Given the description of an element on the screen output the (x, y) to click on. 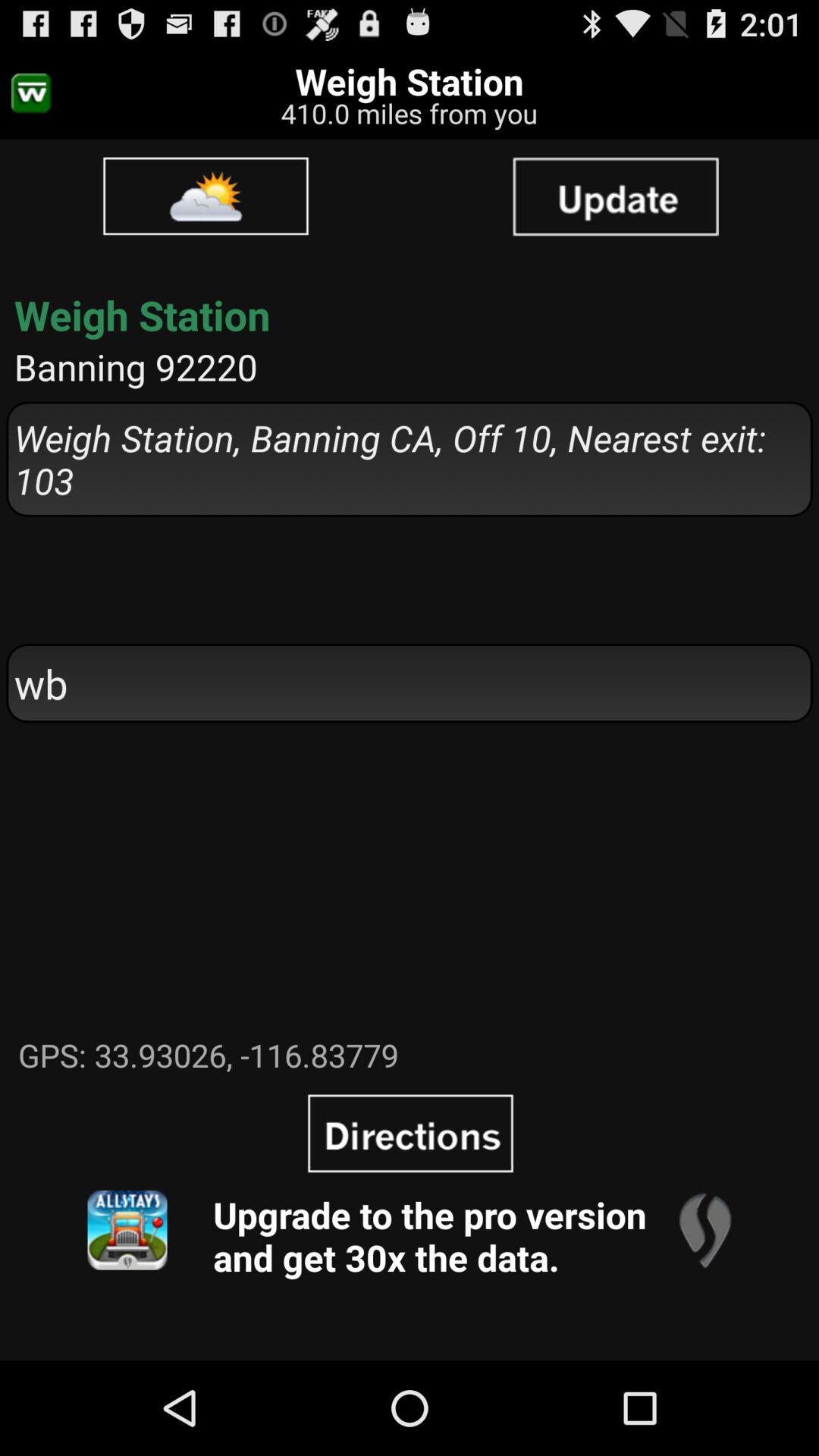
press app above banning 92220  icon (614, 196)
